Given the description of an element on the screen output the (x, y) to click on. 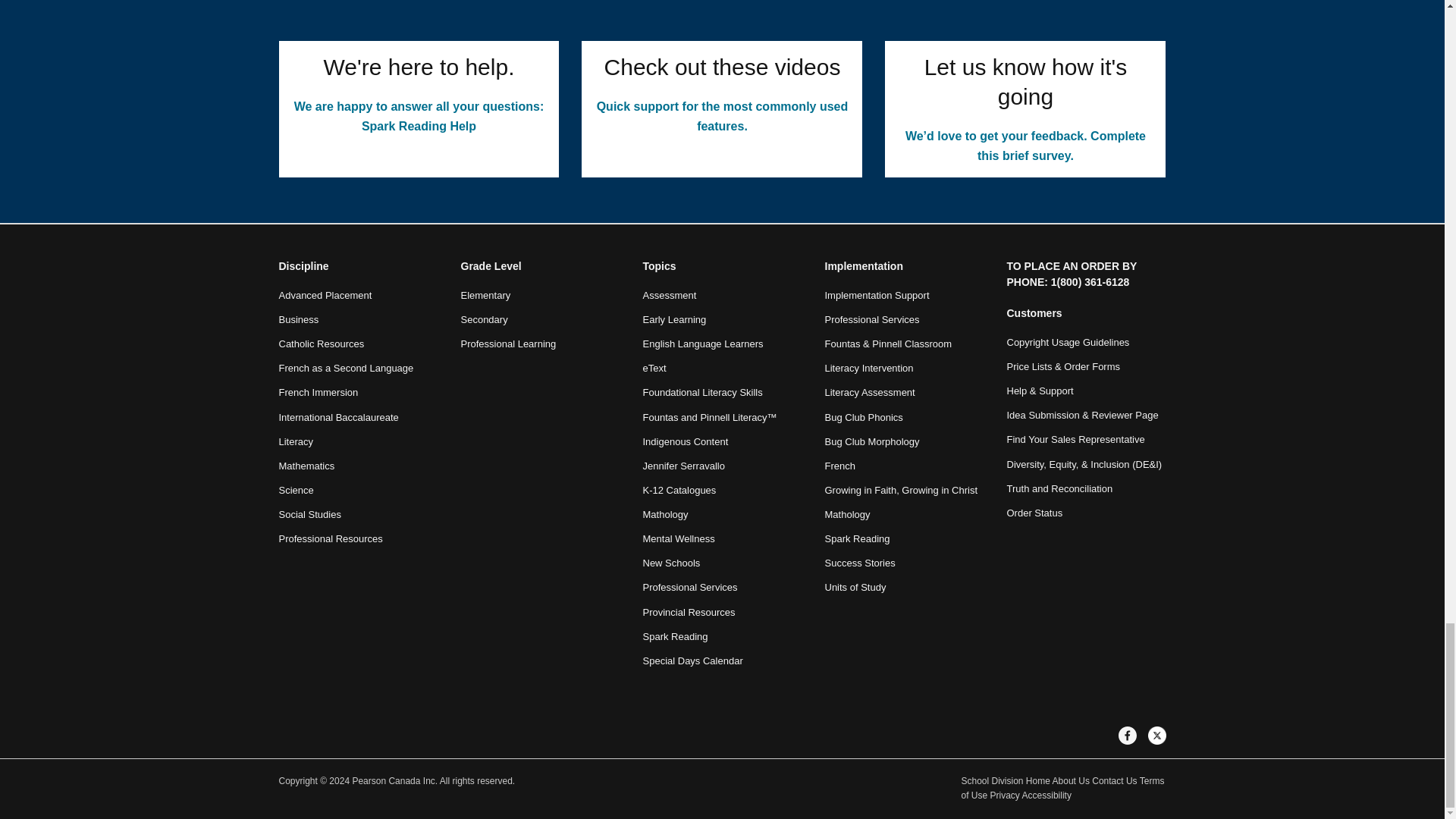
Privacy (1005, 795)
Accessibility (1046, 795)
Terms of Use (1062, 788)
